Given the description of an element on the screen output the (x, y) to click on. 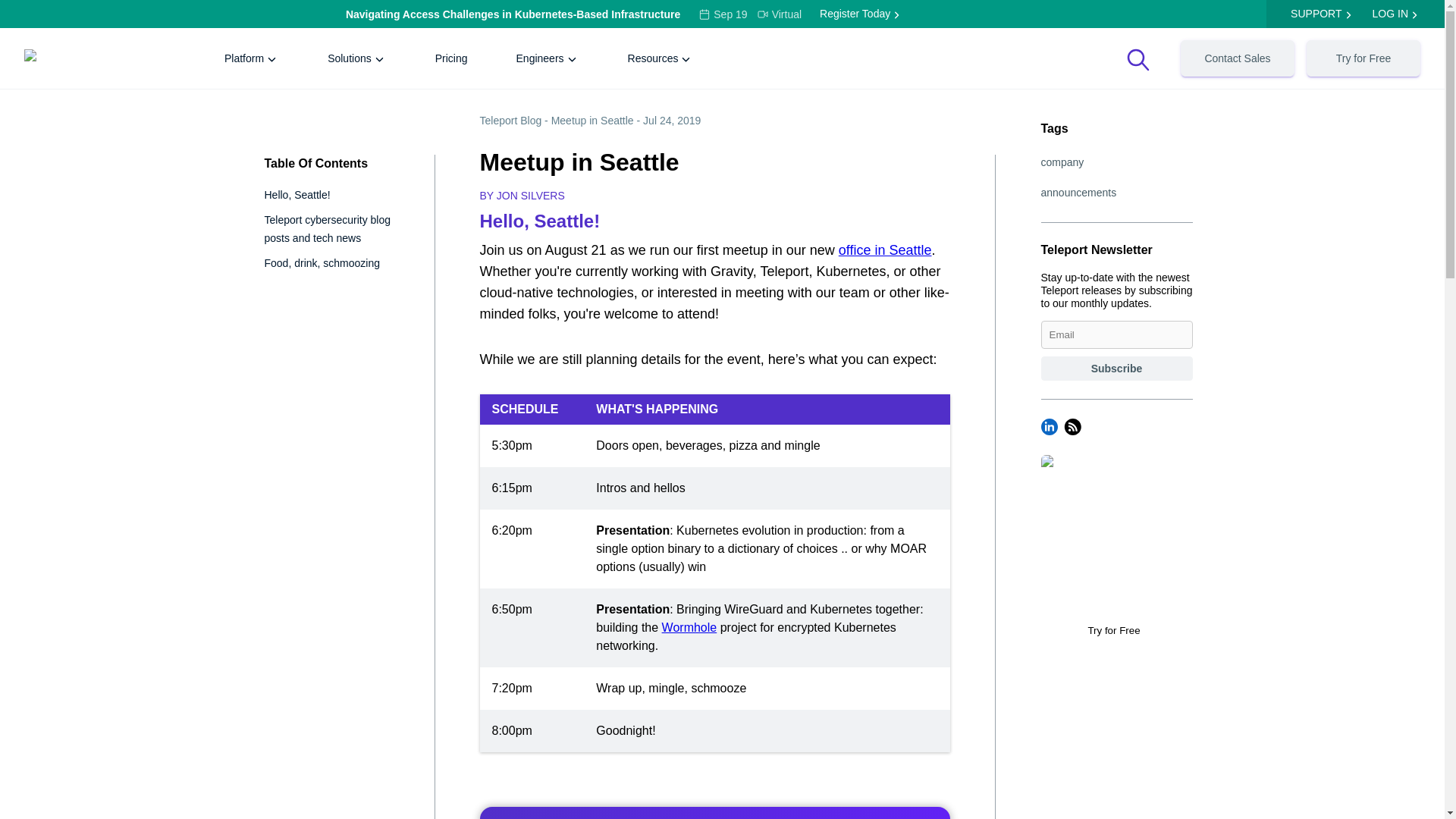
SUPPORT (1315, 13)
LOG IN (1390, 13)
Pricing (451, 57)
